Given the description of an element on the screen output the (x, y) to click on. 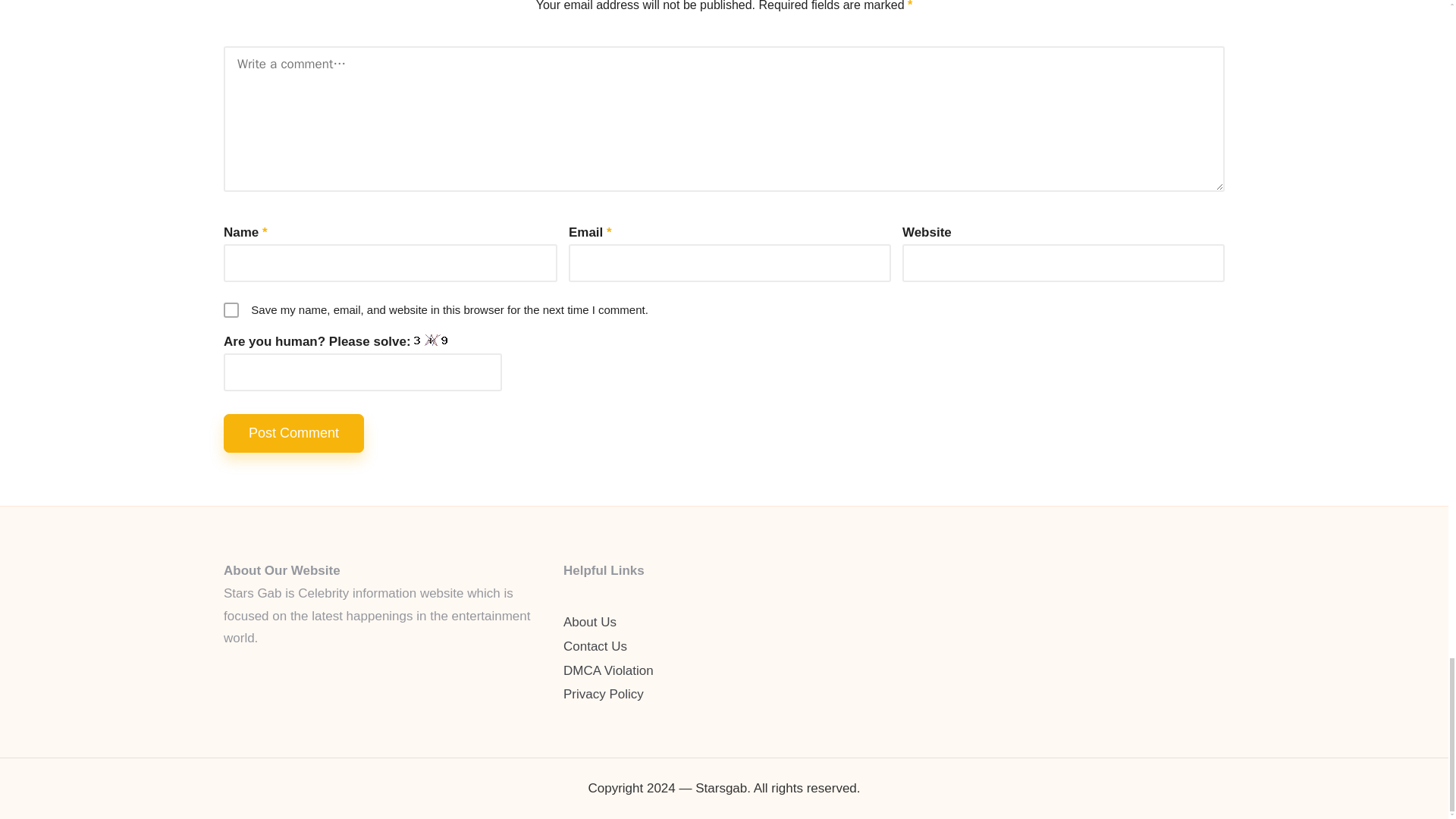
yes (231, 309)
Post Comment (294, 433)
